Given the description of an element on the screen output the (x, y) to click on. 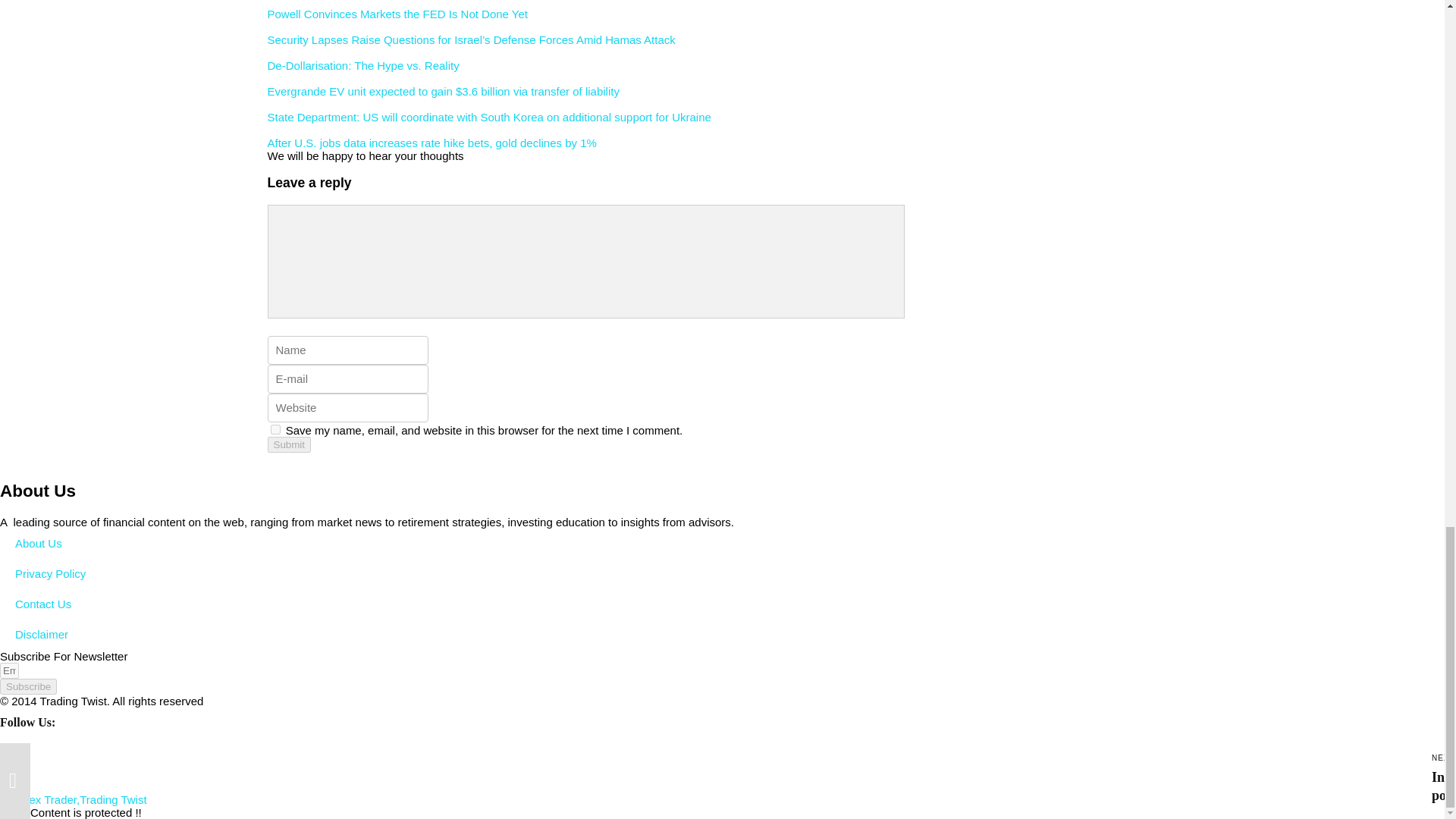
Submit (288, 444)
Submit (288, 444)
De-Dollarisation: The Hype vs. Reality (362, 65)
yes (274, 429)
Powell Convinces Markets the FED Is Not Done Yet (396, 13)
De-Dollarisation: The Hype vs. Reality (362, 65)
Powell Convinces Markets the FED Is Not Done Yet (396, 13)
